Given the description of an element on the screen output the (x, y) to click on. 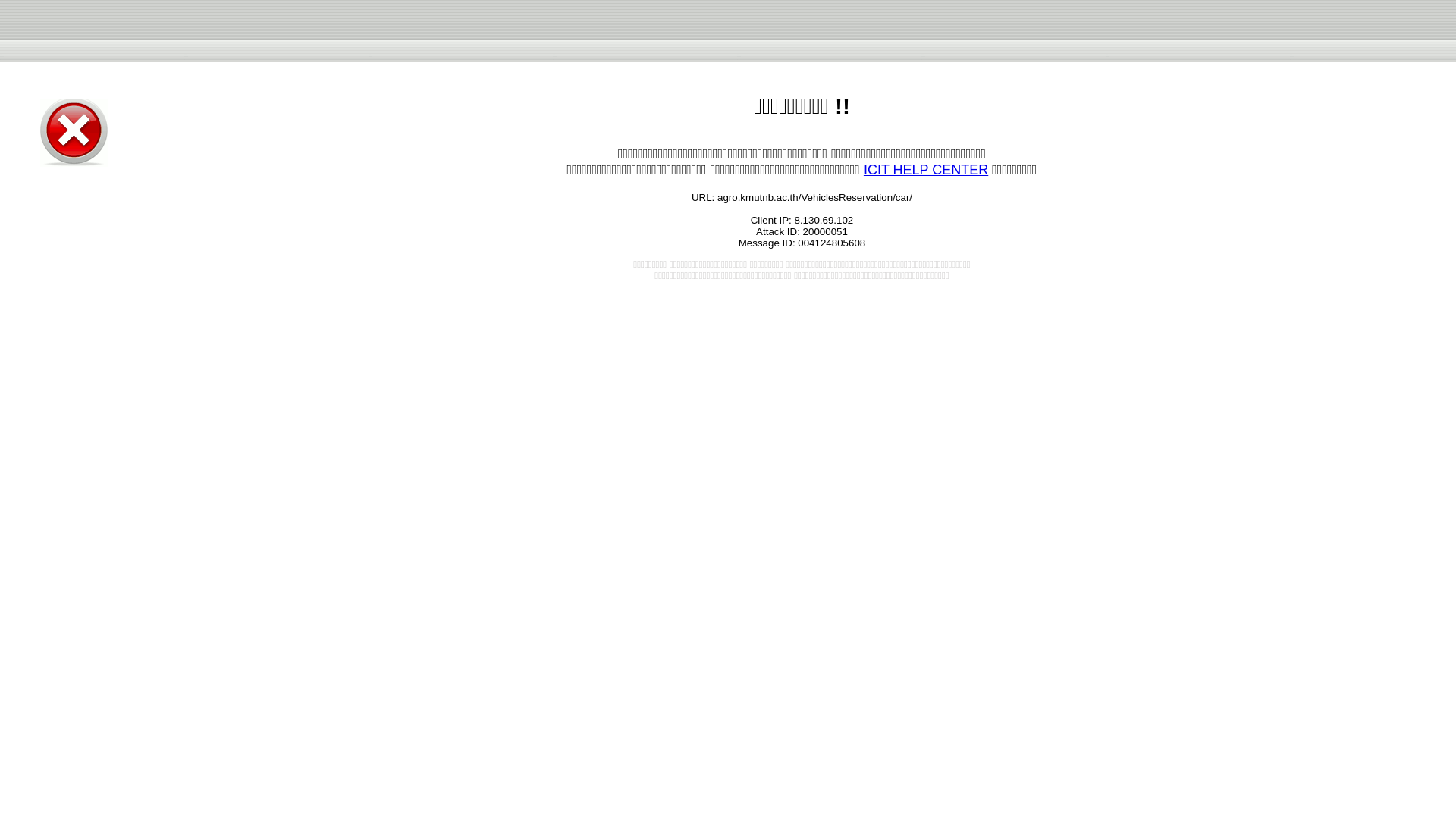
ICIT HELP CENTER (925, 169)
